Given the description of an element on the screen output the (x, y) to click on. 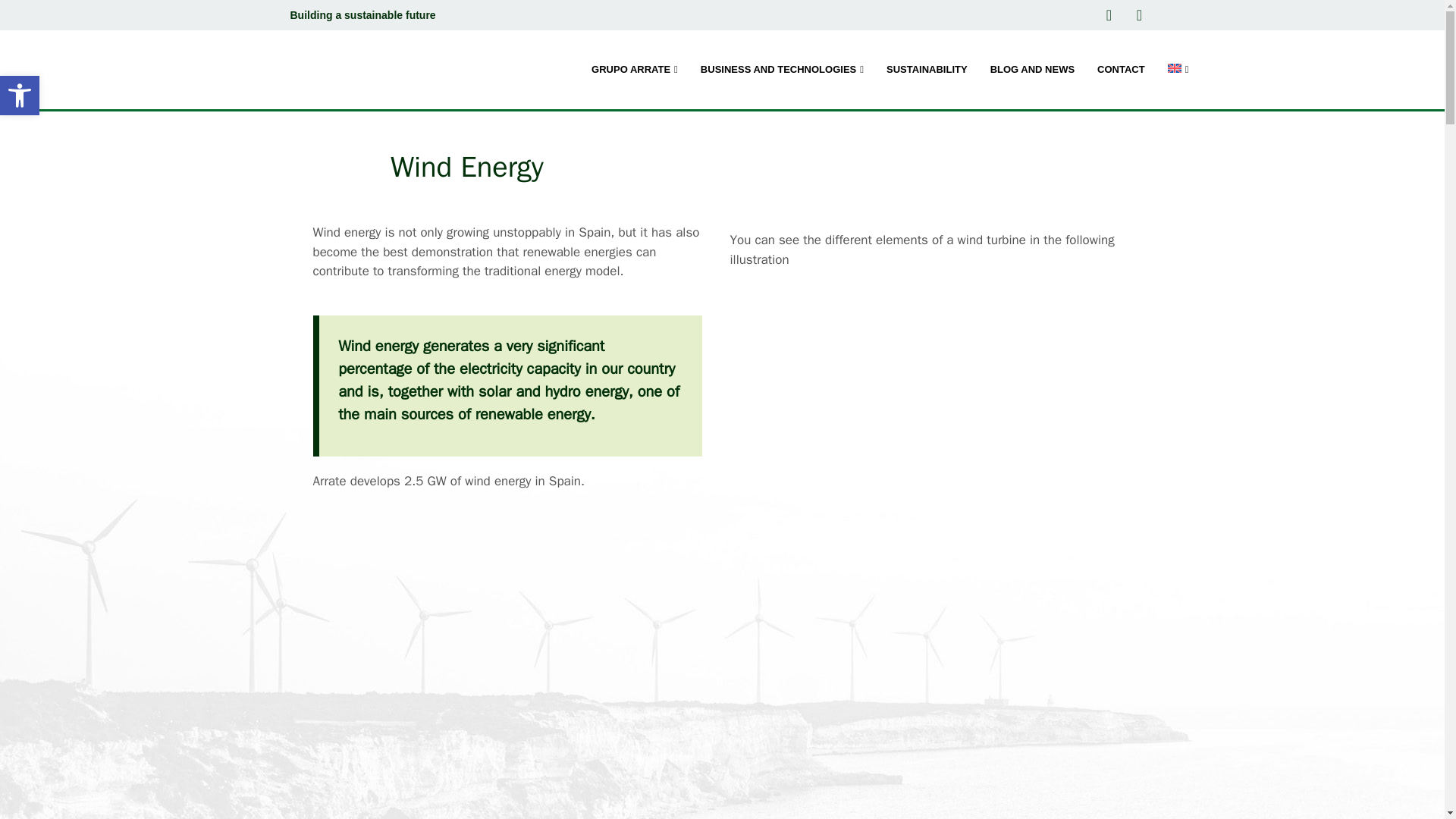
SUSTAINABILITY (926, 69)
CONTACT (1121, 69)
GRUPO ARRATE (633, 69)
Page 7 (926, 249)
BLOG AND NEWS (1032, 69)
Decrease Text (19, 95)
